Given the description of an element on the screen output the (x, y) to click on. 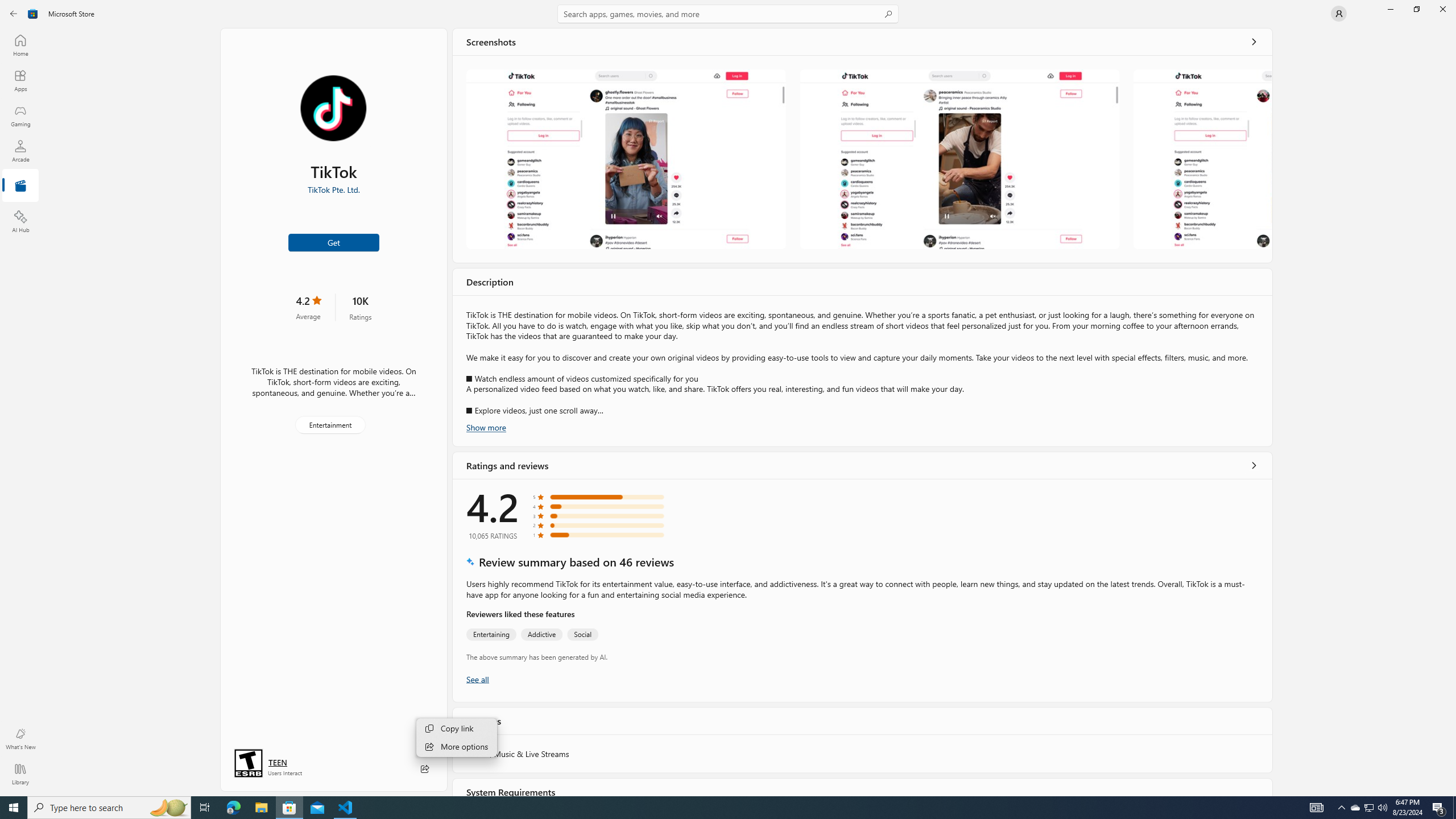
AutomationID: NavigationControl (728, 398)
Show more (485, 426)
4.2 stars. Click to skip to ratings and reviews (307, 306)
User profile (1338, 13)
Arcade (20, 150)
Show all ratings and reviews (477, 678)
Show all ratings and reviews (1253, 465)
Home (20, 45)
Apps (20, 80)
Class: Image (32, 13)
Search (727, 13)
Entertainment (329, 425)
Screenshot 3 (1201, 158)
See all (1253, 41)
